Given the description of an element on the screen output the (x, y) to click on. 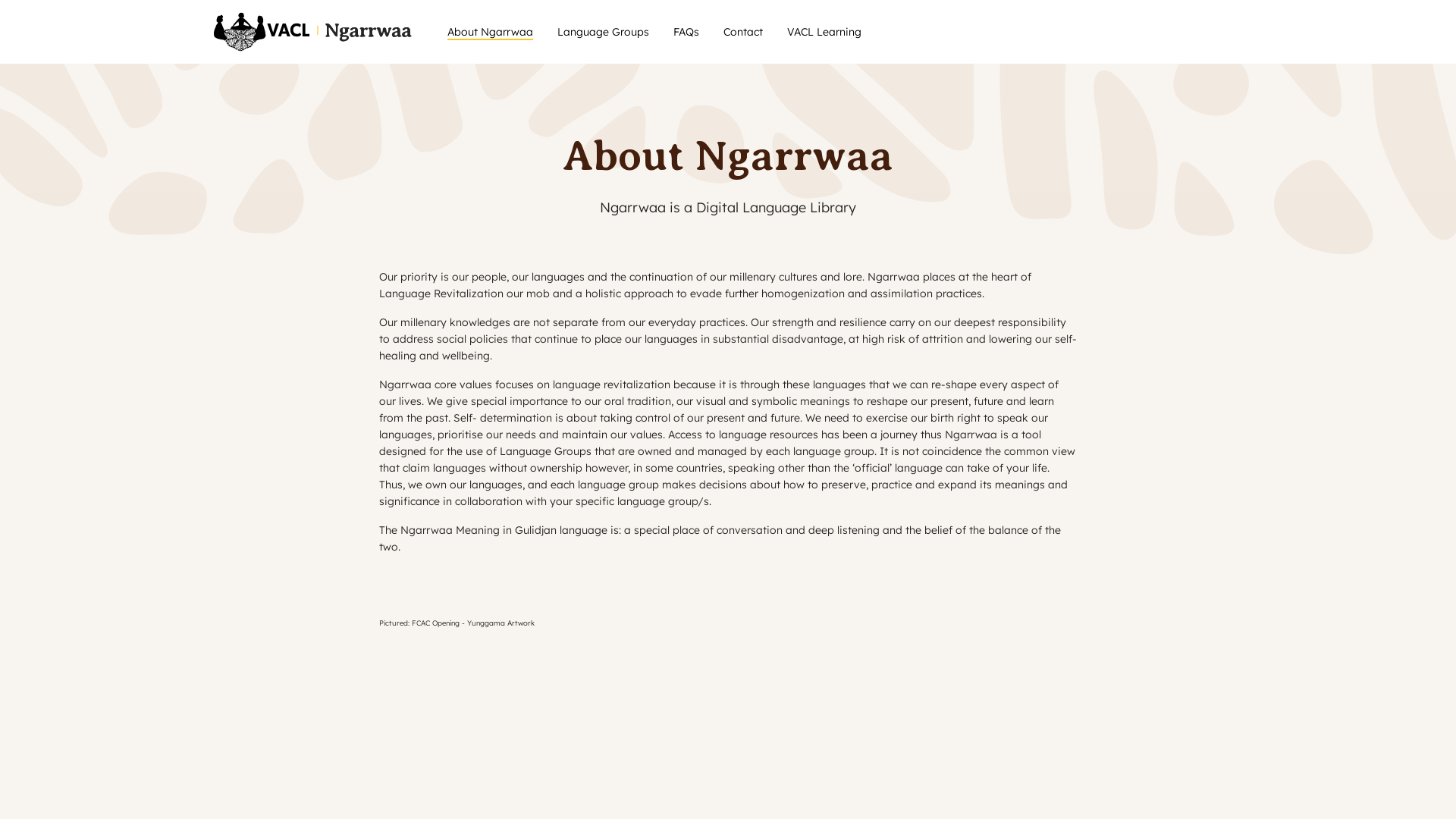
Contact Element type: text (742, 31)
FAQs Element type: text (686, 31)
Ngarrwaa Element type: text (315, 31)
About Ngarrwaa Element type: text (490, 31)
Language Groups Element type: text (603, 31)
VACL Learning Element type: text (824, 31)
